Given the description of an element on the screen output the (x, y) to click on. 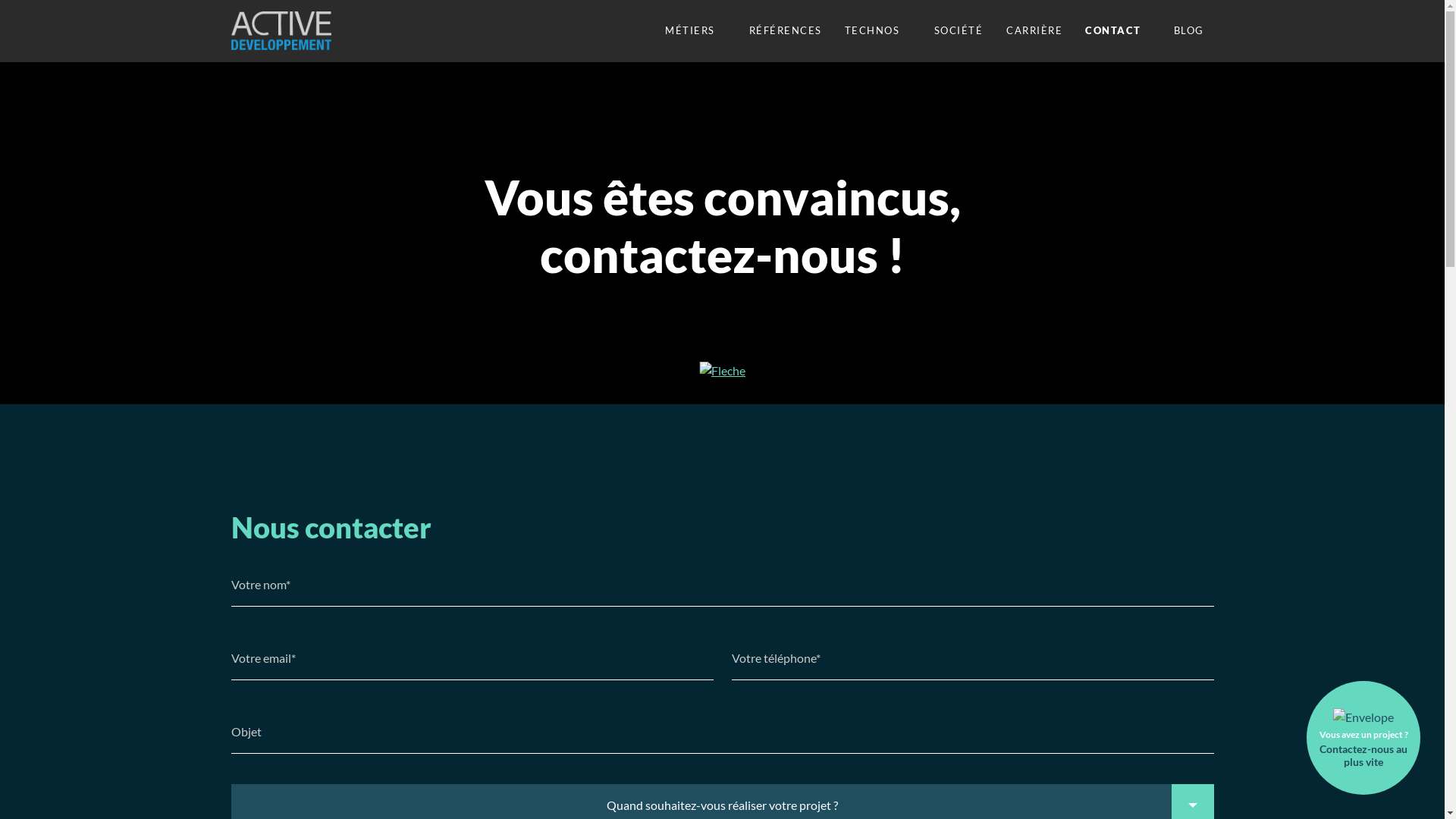
TECHNOS Element type: text (877, 30)
Vous avez un project ?
Contactez-nous au plus vite Element type: text (1363, 737)
BLOG Element type: text (1188, 30)
CONTACT Element type: text (1113, 30)
